Given the description of an element on the screen output the (x, y) to click on. 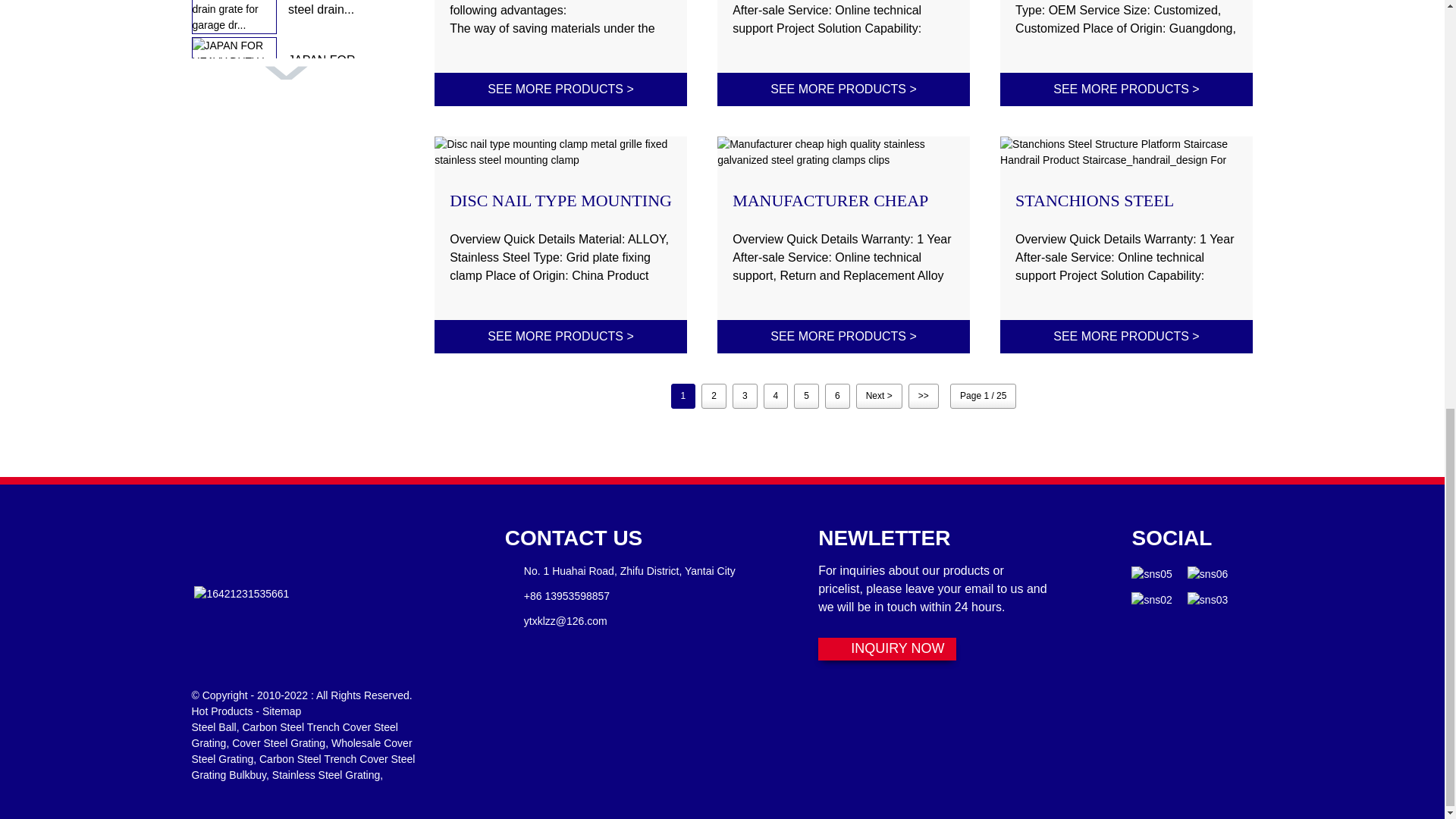
The Last Page (923, 396)
Steel Ball (212, 727)
Stainless Steel Grating (326, 775)
Wholesale Cover Steel Grating (301, 750)
Carbon Steel Trench Cover Steel Grating Bulkbuy (302, 766)
Carbon Steel Trench Cover Steel Grating (293, 735)
Cover Steel Grating (277, 743)
